Given the description of an element on the screen output the (x, y) to click on. 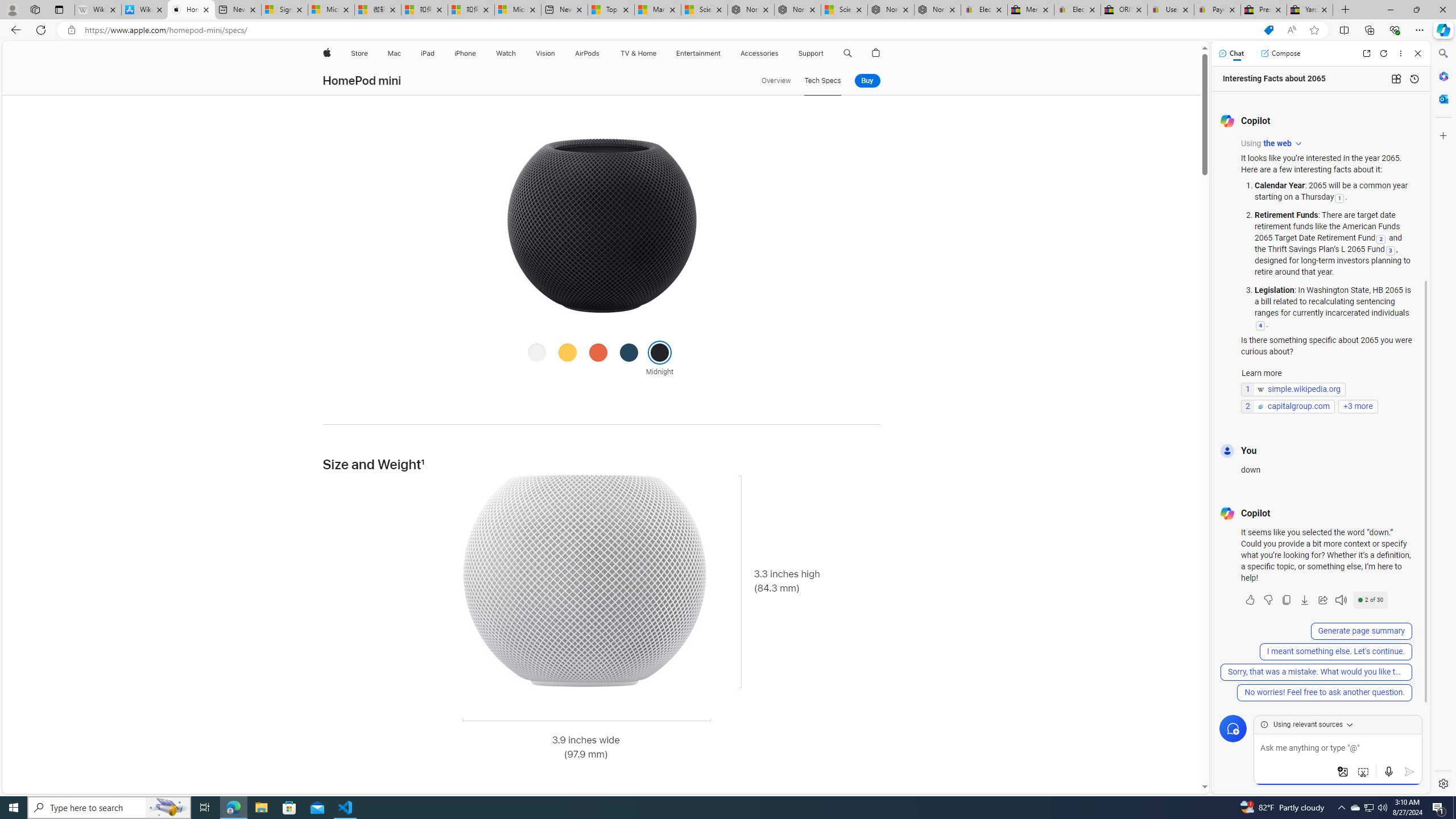
AirPods (587, 53)
Entertainment menu (722, 53)
TV and Home (637, 53)
Shopping Bag (876, 53)
Vision (545, 53)
iPad (427, 53)
